Given the description of an element on the screen output the (x, y) to click on. 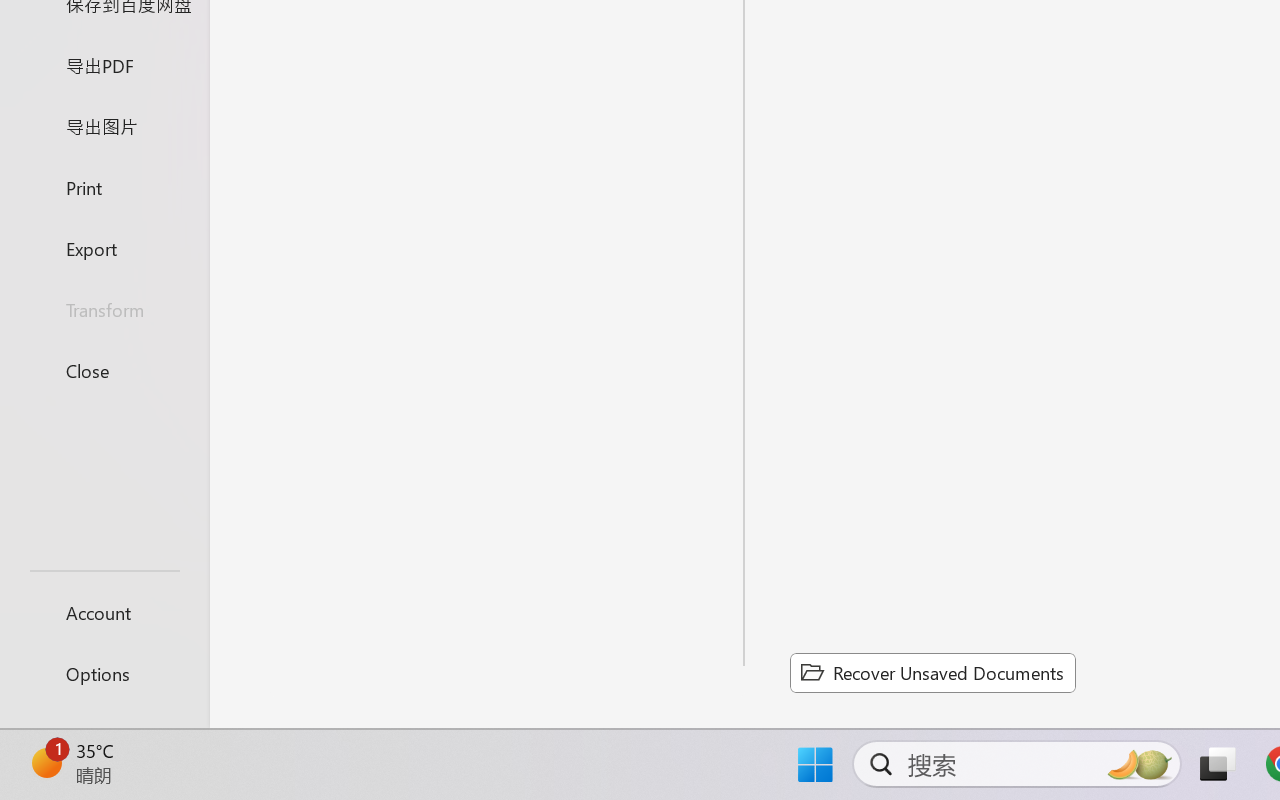
Transform (104, 309)
Print (104, 186)
Export (104, 248)
Options (104, 673)
Recover Unsaved Documents (932, 672)
Account (104, 612)
